Given the description of an element on the screen output the (x, y) to click on. 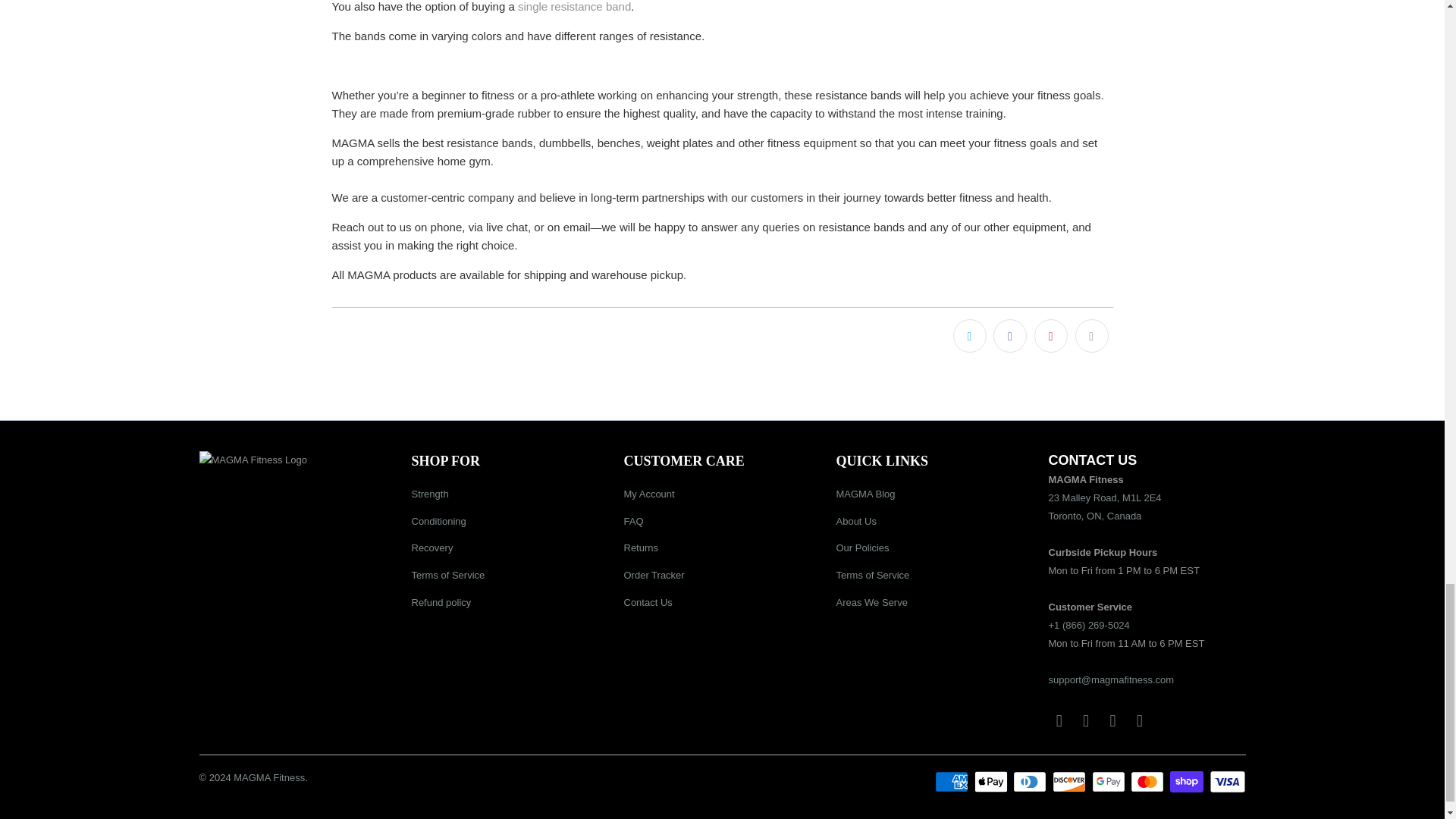
Diners Club (1031, 781)
MAGMA Fitness on Facebook (1059, 720)
Share this on Twitter (970, 335)
Email this to a friend (1091, 335)
Apple Pay (992, 781)
Shop Pay (1188, 781)
Discover (1070, 781)
Visa (1226, 781)
Google Pay (1110, 781)
Email MAGMA Fitness (1139, 720)
MAGMA Fitness on Pinterest (1113, 720)
American Express (952, 781)
Share this on Facebook (1009, 335)
Mastercard (1149, 781)
MAGMA Fitness on YouTube (1086, 720)
